Given the description of an element on the screen output the (x, y) to click on. 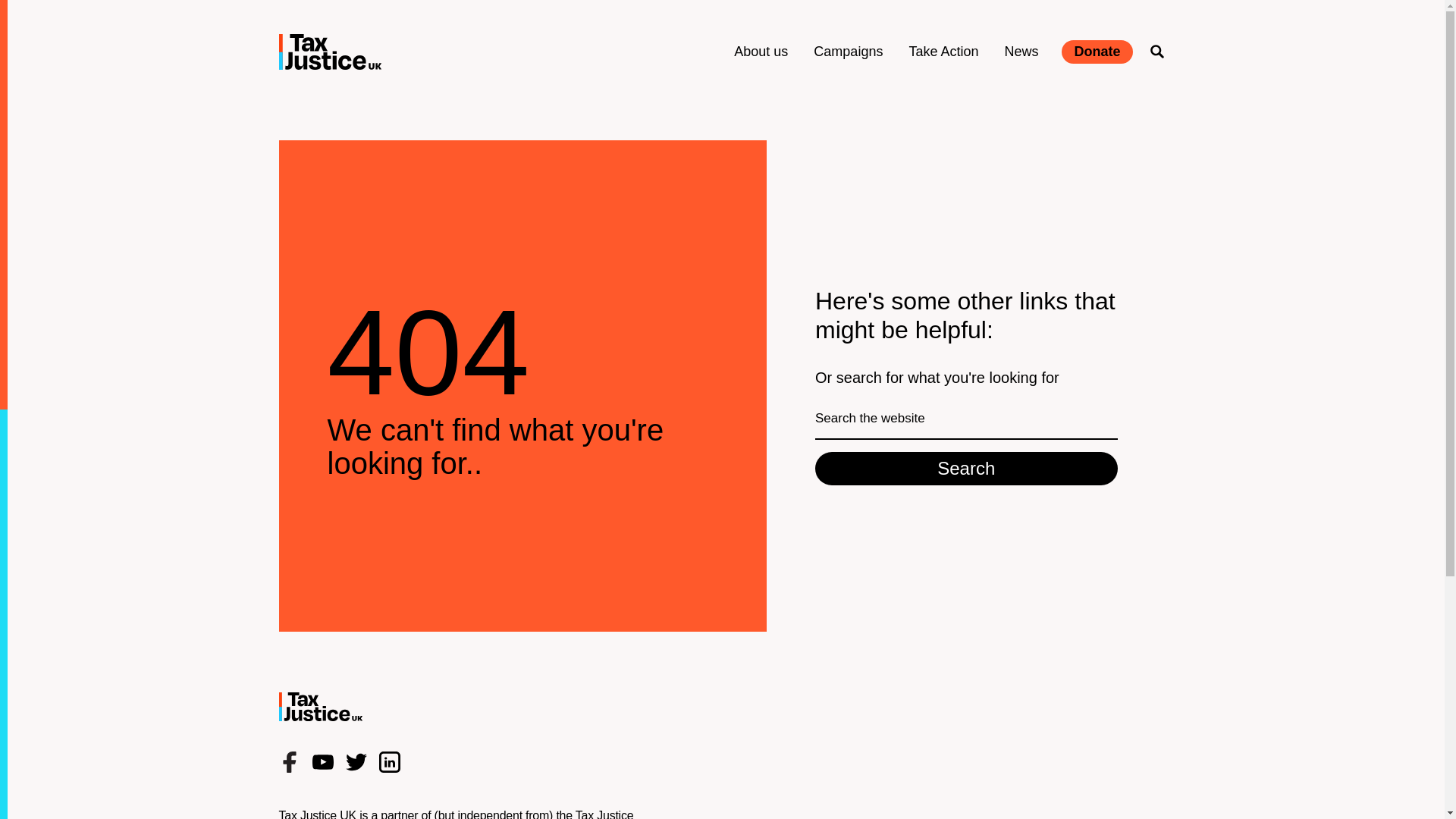
Take Action (943, 51)
Tax Justice Network (456, 814)
Donate (1096, 52)
Search (966, 468)
Search the site (1157, 51)
News (1021, 51)
Campaigns (847, 51)
About us (760, 51)
